Given the description of an element on the screen output the (x, y) to click on. 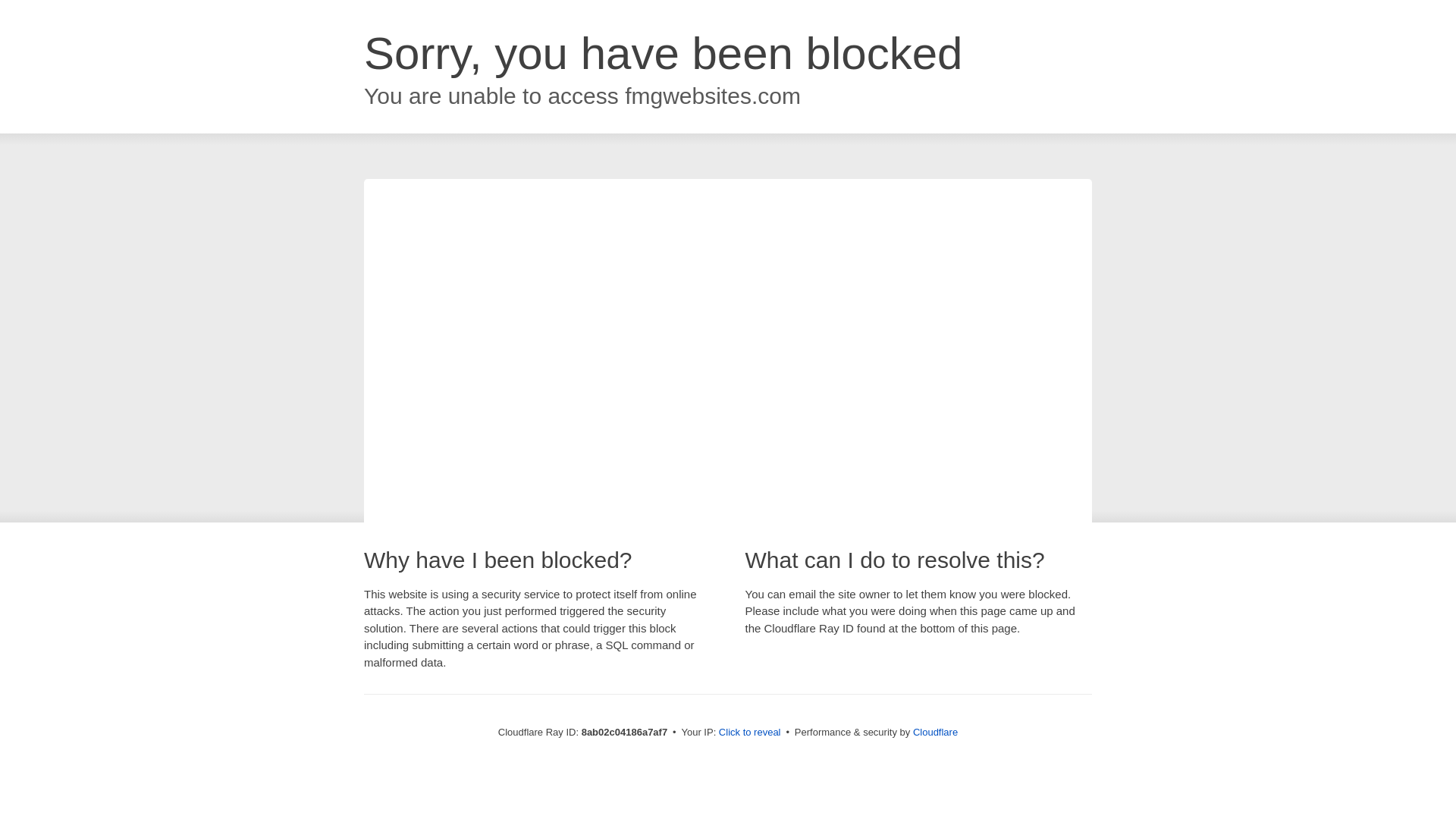
Cloudflare (935, 731)
Click to reveal (749, 732)
